Given the description of an element on the screen output the (x, y) to click on. 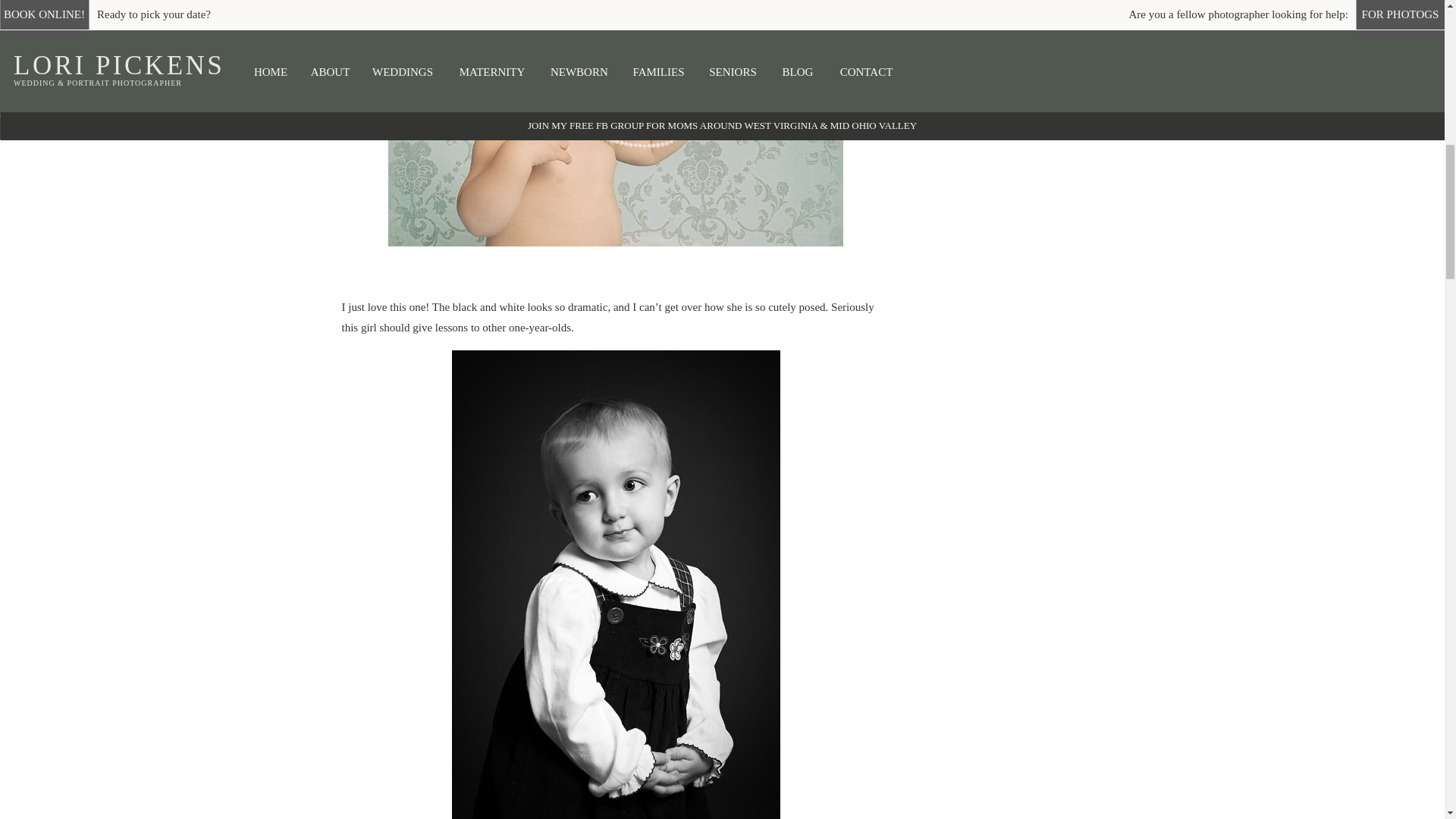
SENIORS (1122, 38)
NEWBORNS (1023, 38)
